Given the description of an element on the screen output the (x, y) to click on. 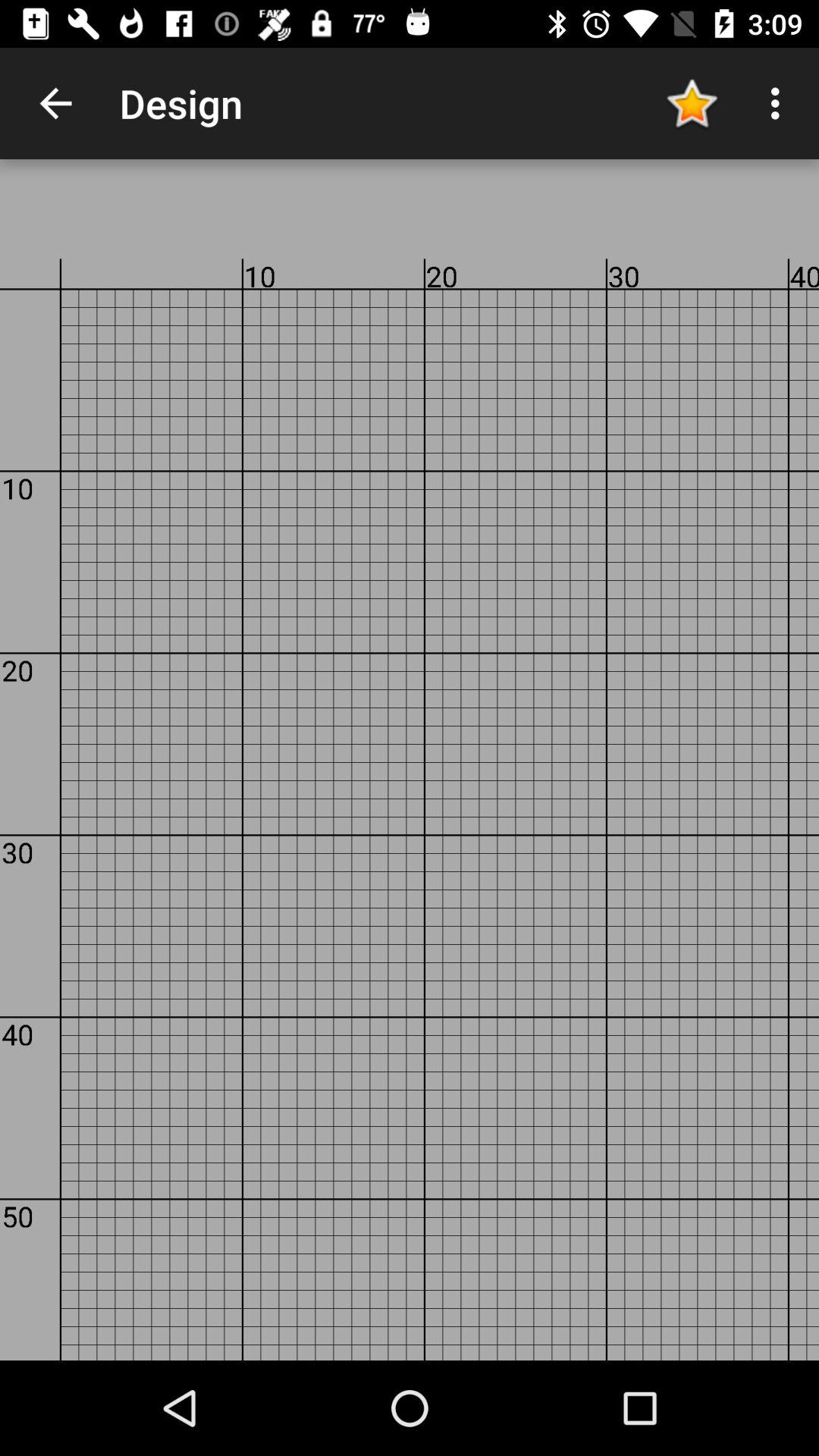
choose app to the right of the design (691, 103)
